Given the description of an element on the screen output the (x, y) to click on. 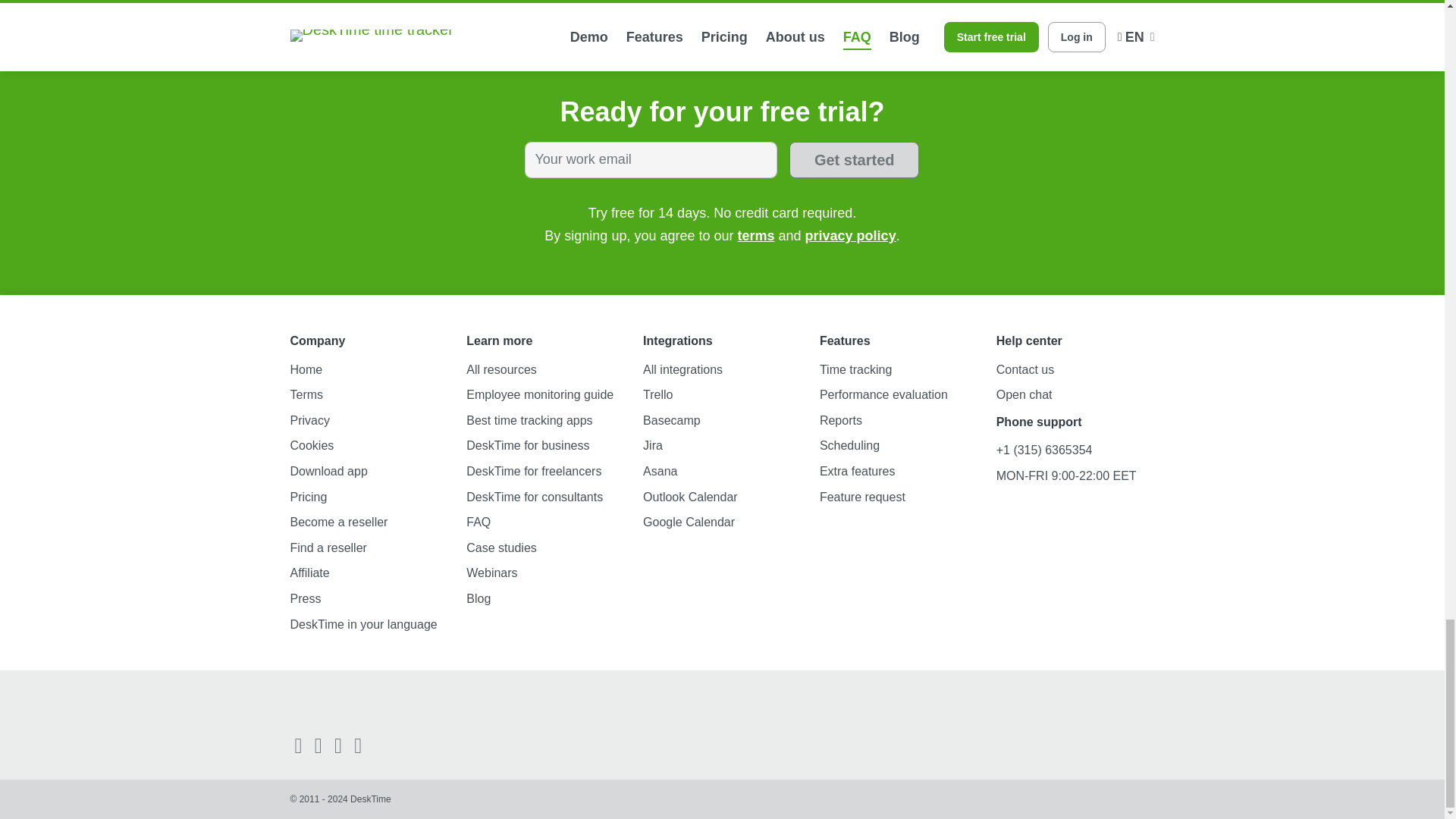
privacy policy (850, 235)
terms (755, 235)
Get started (854, 159)
